Given the description of an element on the screen output the (x, y) to click on. 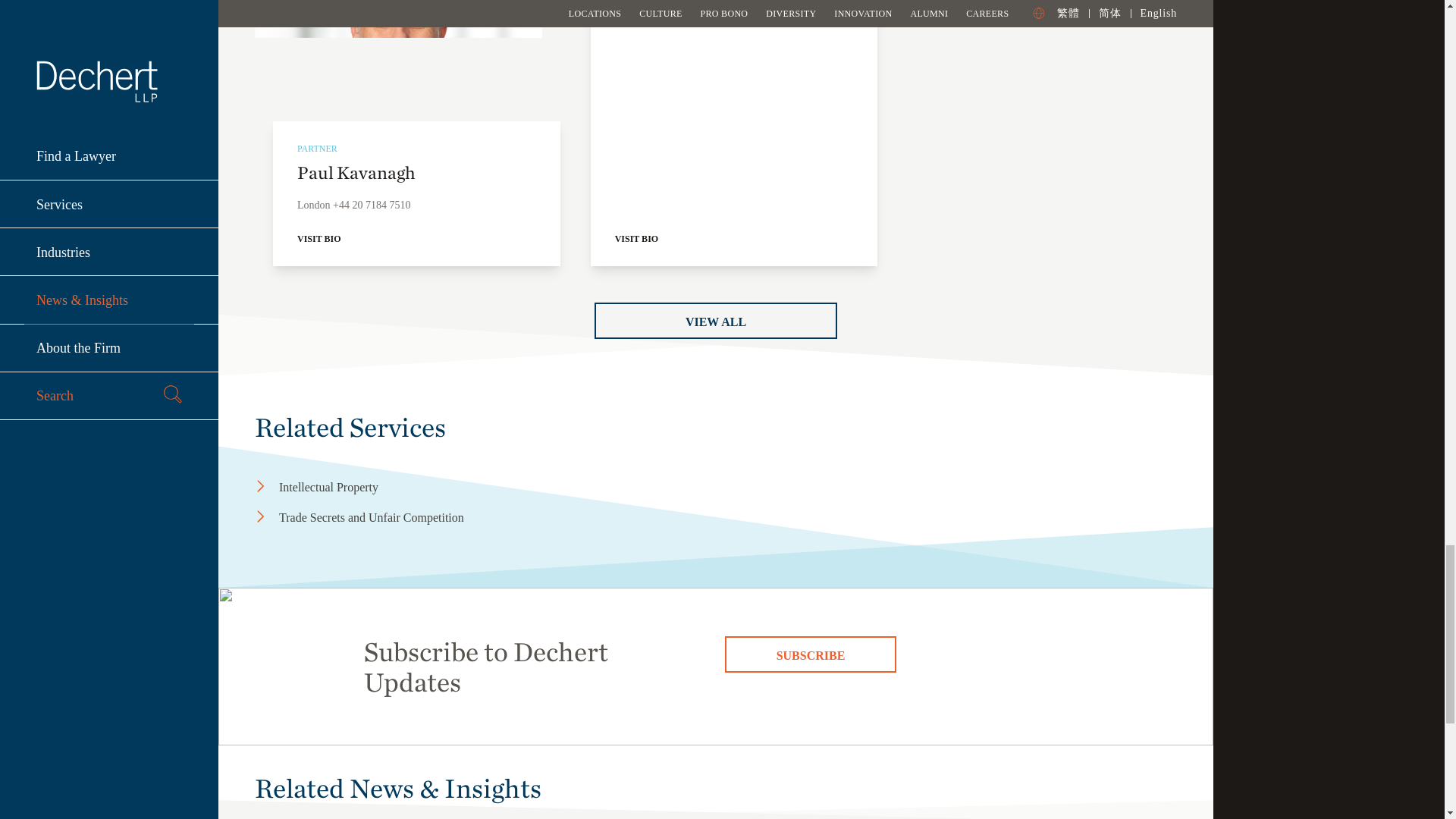
VISIT BIO (733, 238)
VISIT BIO (416, 238)
Paul Kavanagh (397, 79)
SUBSCRIBE (810, 654)
Trade Secrets and Unfair Competition (404, 517)
Intellectual Property (404, 487)
VIEW ALL (715, 320)
